Given the description of an element on the screen output the (x, y) to click on. 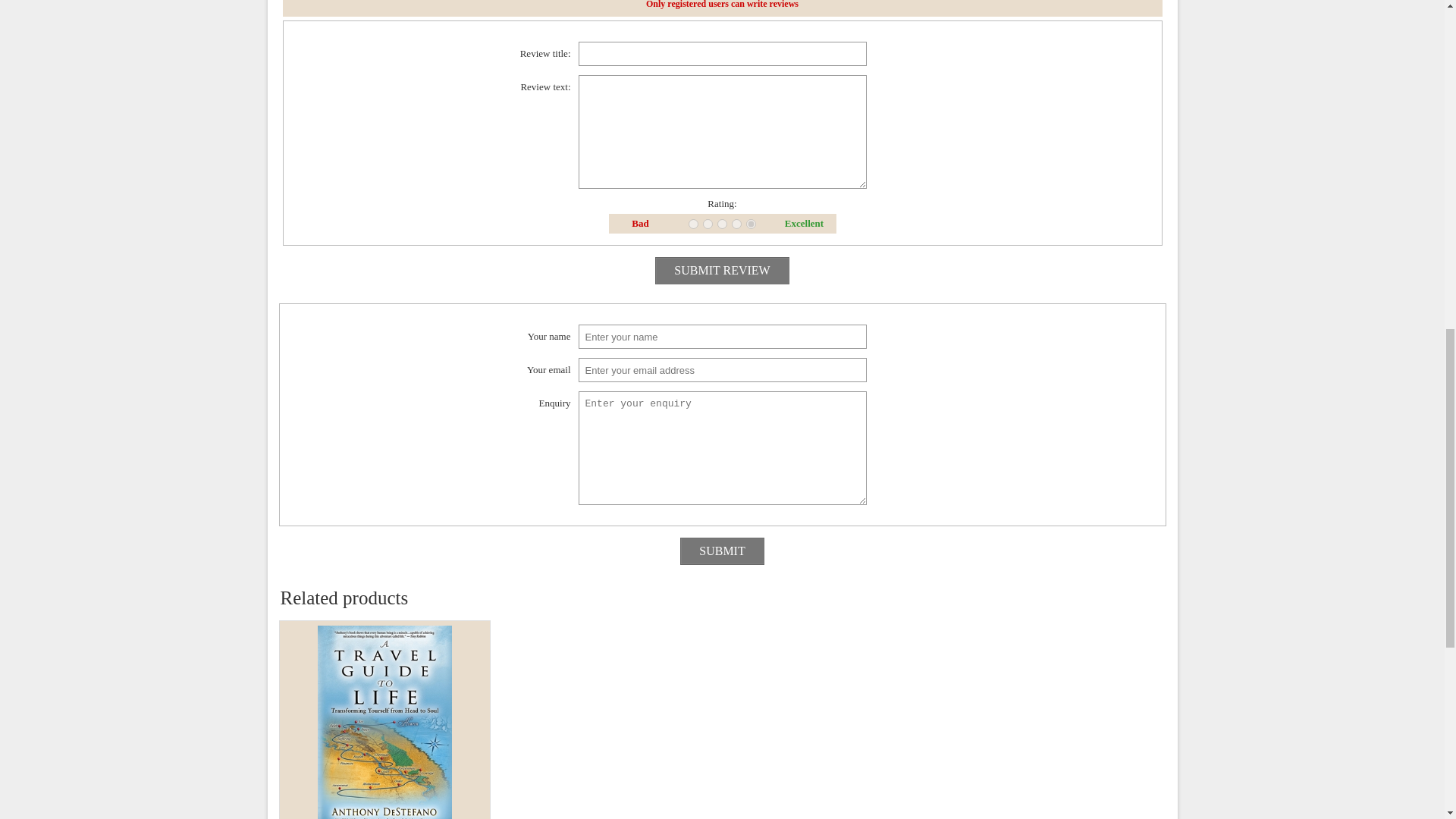
1 (693, 224)
Submit (720, 551)
2 (708, 224)
3 (721, 224)
5 (750, 224)
4 (736, 224)
Submit review (722, 270)
